Given the description of an element on the screen output the (x, y) to click on. 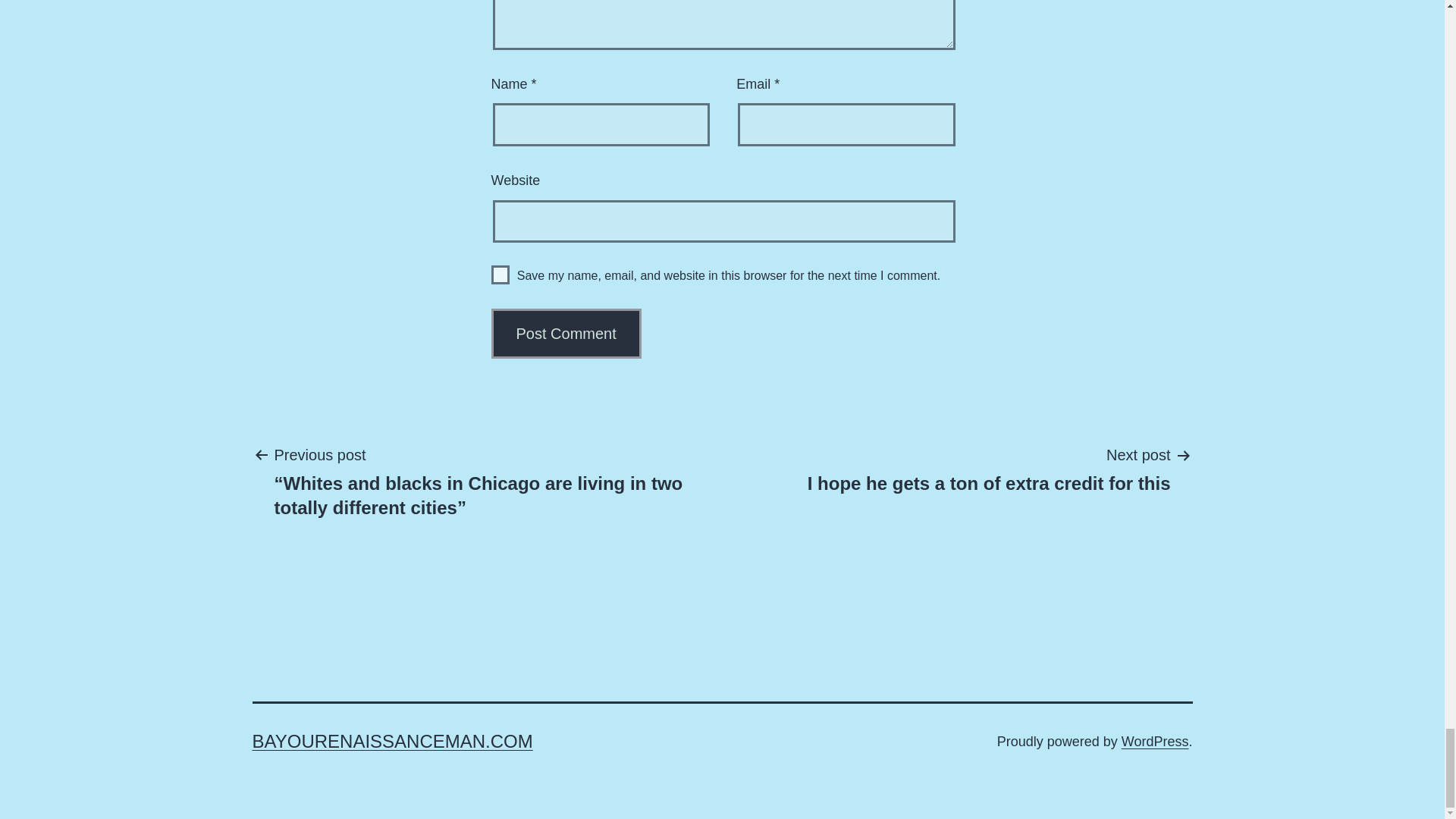
yes (500, 274)
Post Comment (989, 468)
Post Comment (567, 333)
BAYOURENAISSANCEMAN.COM (567, 333)
WordPress (391, 741)
